Given the description of an element on the screen output the (x, y) to click on. 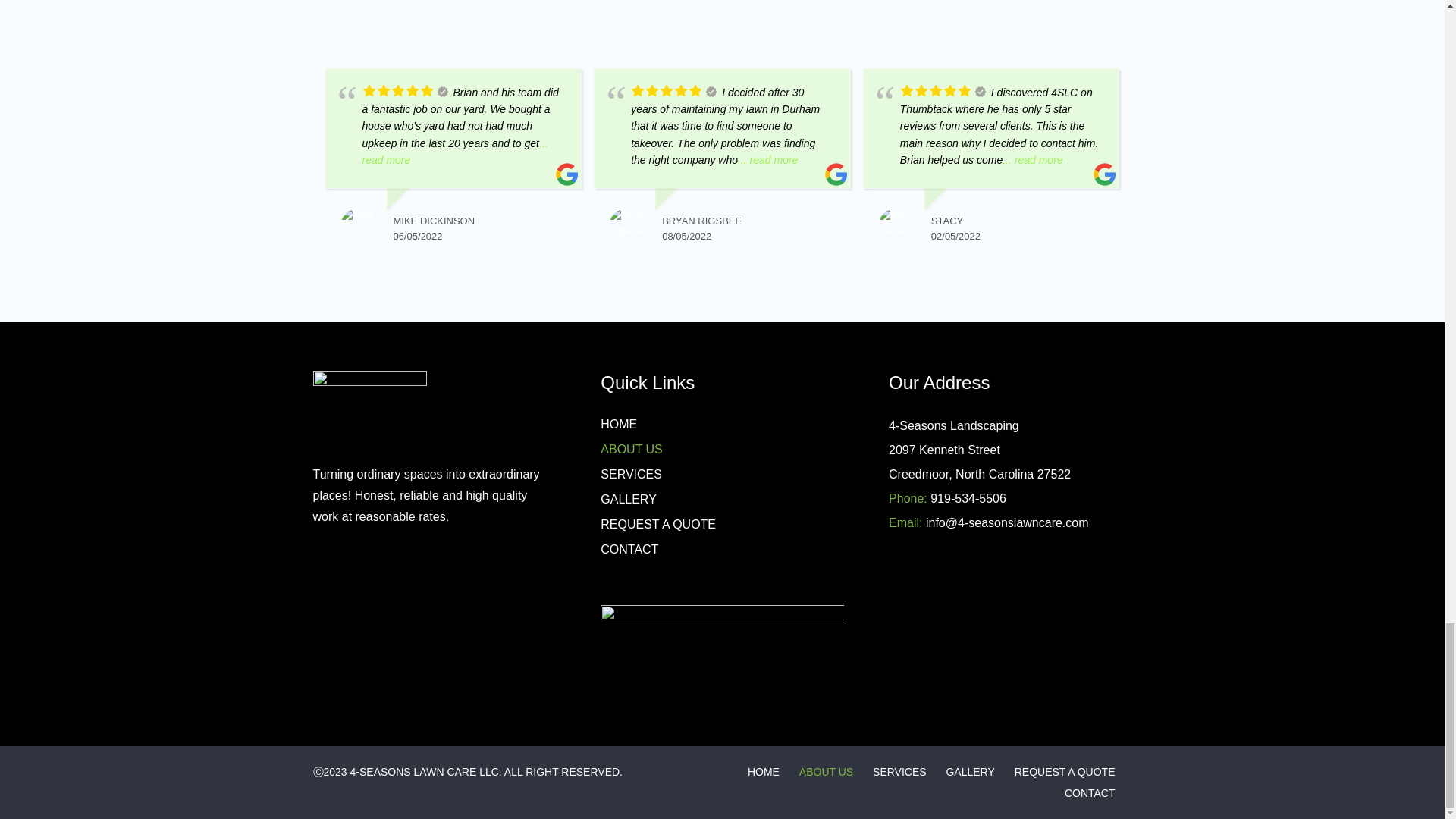
... read more (1032, 159)
HOME (763, 771)
... read more (767, 159)
SERVICES (899, 771)
... read more (455, 151)
REQUEST A QUOTE (657, 523)
ABOUT US (630, 449)
HOME (618, 423)
ABOUT US (826, 771)
GALLERY (969, 771)
